Given the description of an element on the screen output the (x, y) to click on. 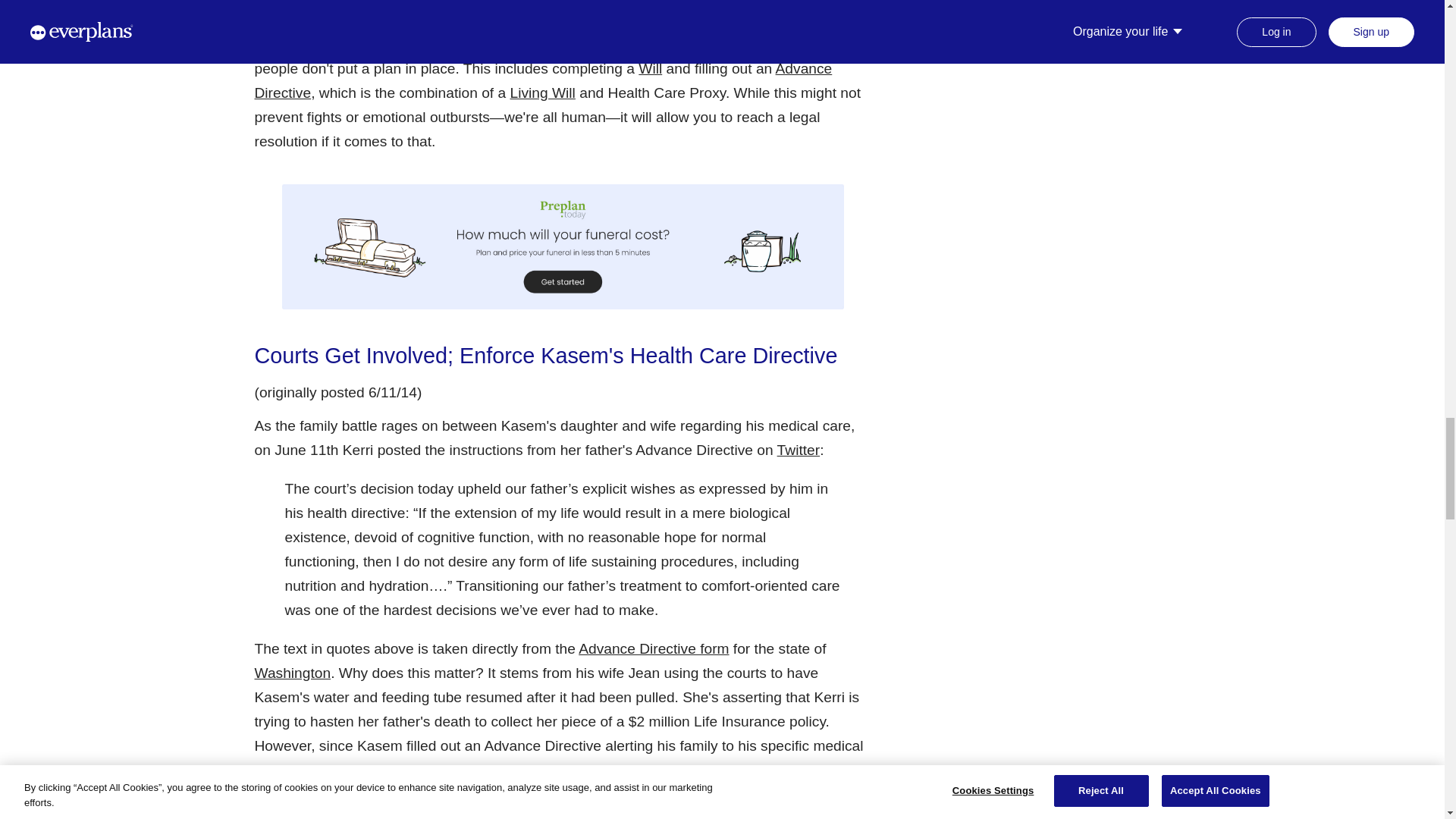
Living Will (543, 92)
Advance Directive (543, 80)
Will (650, 68)
